Given the description of an element on the screen output the (x, y) to click on. 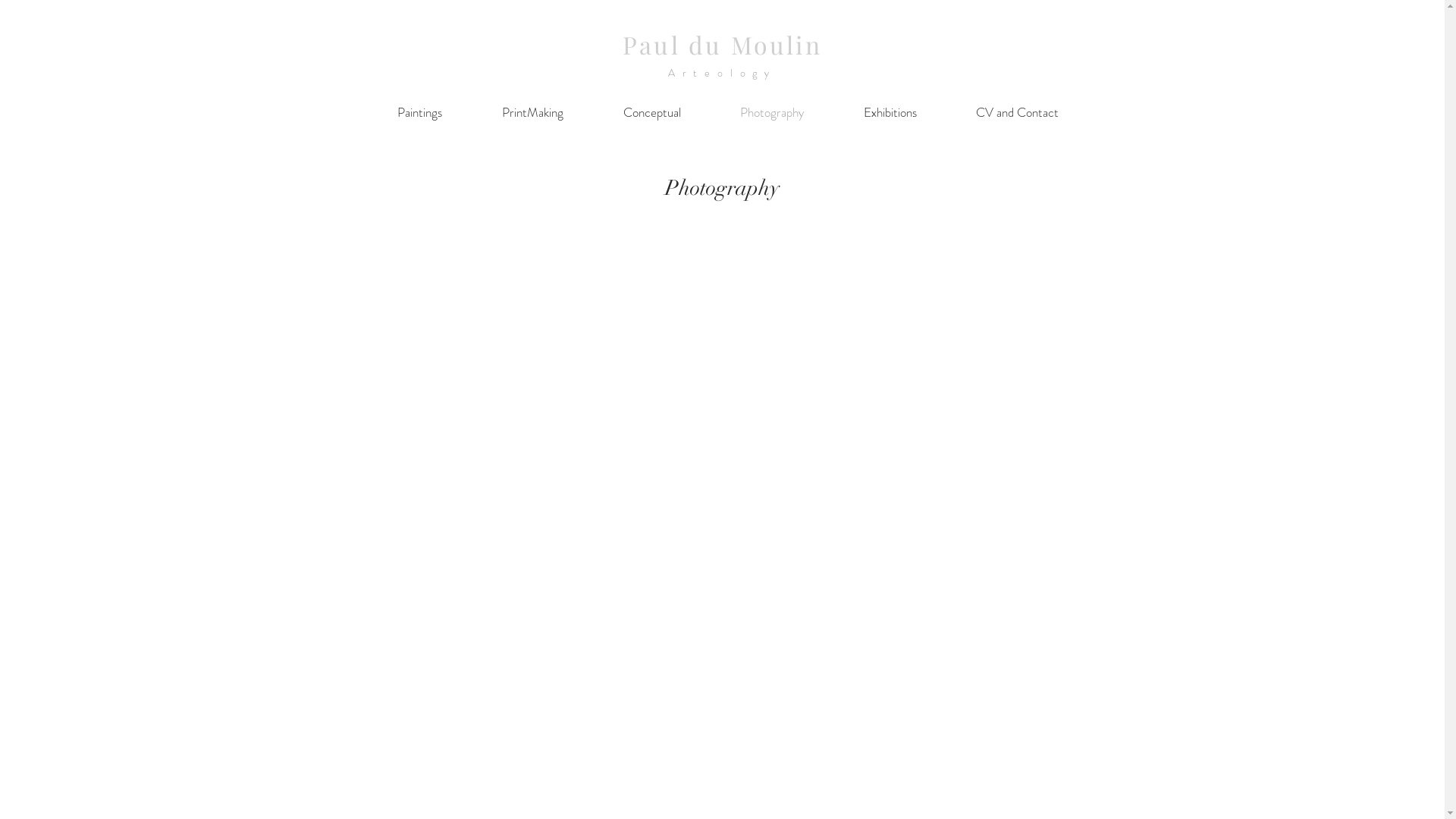
PrintMaking Element type: text (532, 112)
Photography Element type: text (771, 112)
Exhibitions Element type: text (890, 112)
CV and Contact Element type: text (1017, 112)
Conceptual Element type: text (651, 112)
Paul du Moulin Element type: text (722, 44)
Paintings Element type: text (419, 112)
Arteology Element type: text (722, 72)
